Given the description of an element on the screen output the (x, y) to click on. 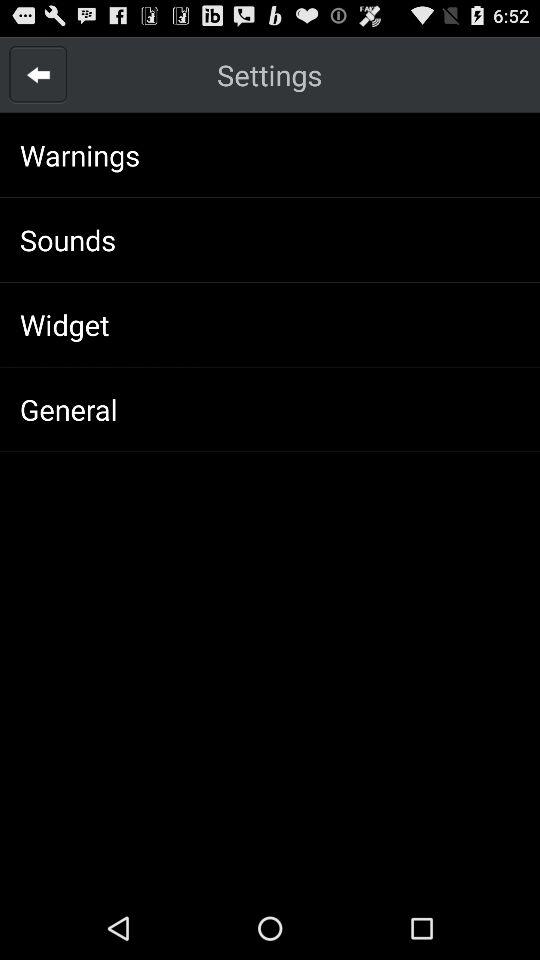
select the app above the warnings app (38, 74)
